Given the description of an element on the screen output the (x, y) to click on. 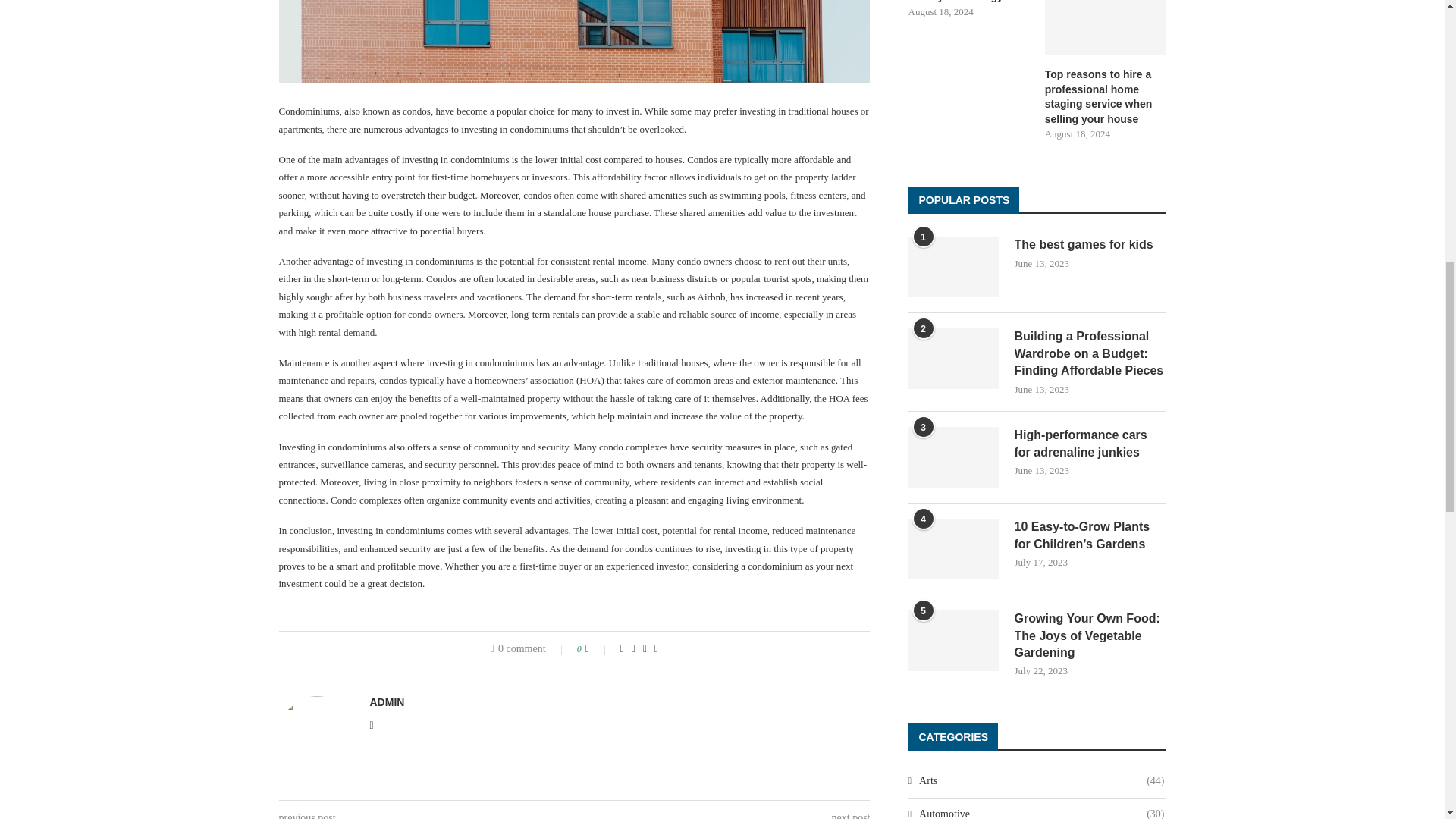
The-Advantages-of-Investing-in-Condominiums (574, 41)
Like (597, 648)
Author admin (386, 702)
